Given the description of an element on the screen output the (x, y) to click on. 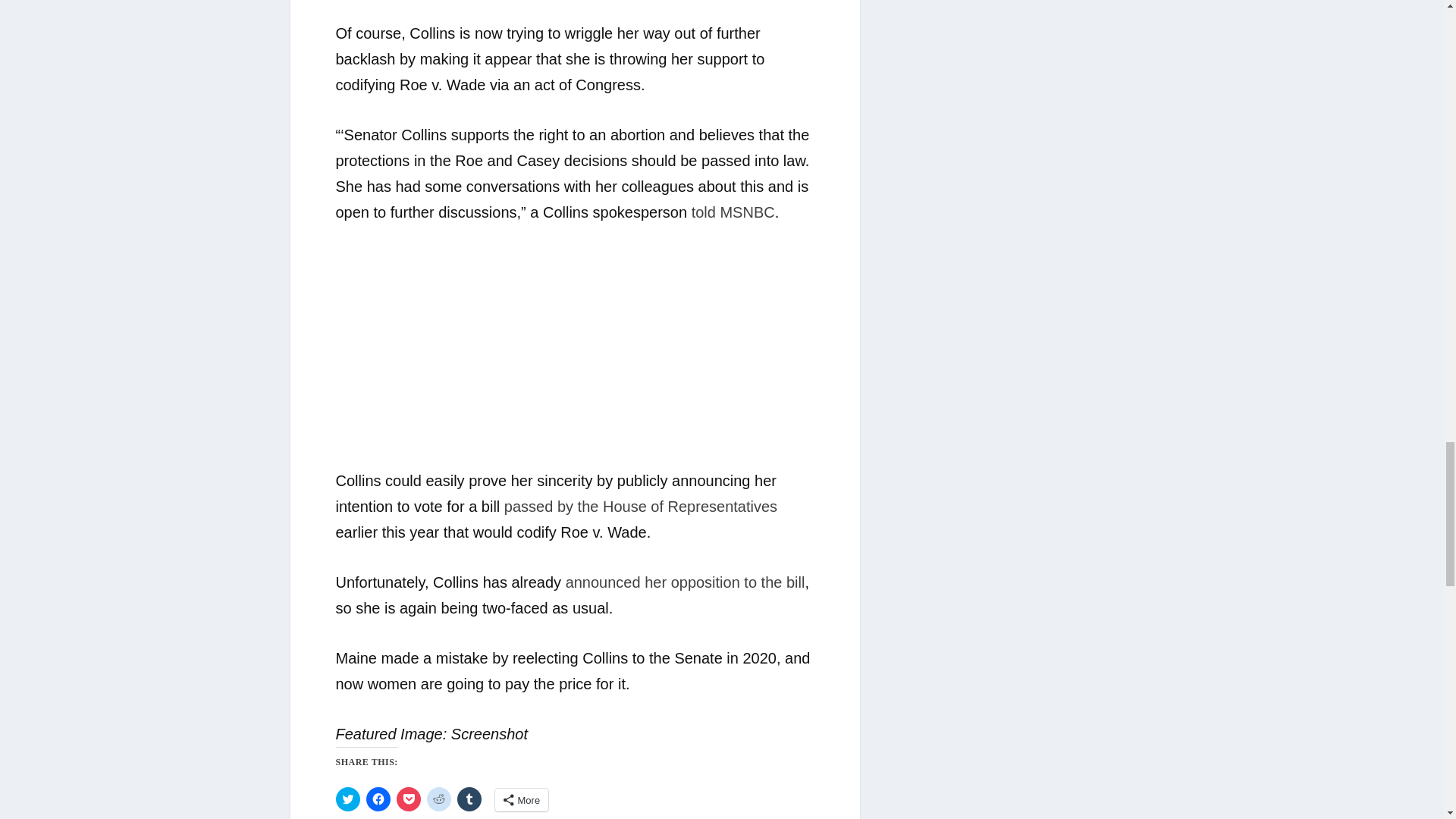
Click to share on Twitter (346, 799)
Click to share on Reddit (437, 799)
Click to share on Tumblr (468, 799)
Click to share on Facebook (377, 799)
Click to share on Pocket (408, 799)
